Given the description of an element on the screen output the (x, y) to click on. 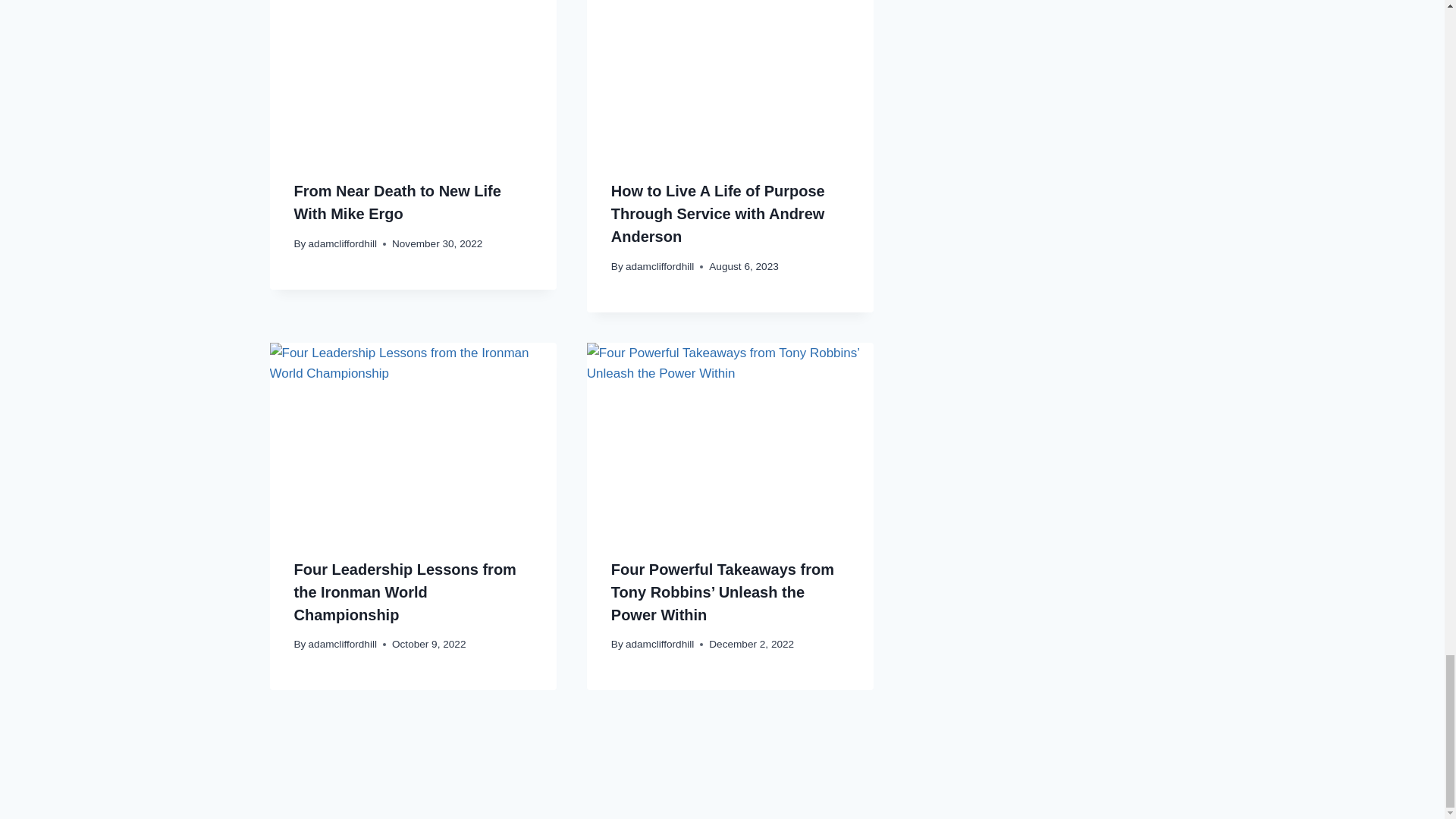
adamcliffordhill (342, 243)
adamcliffordhill (660, 266)
From Near Death to New Life With Mike Ergo (397, 201)
